Given the description of an element on the screen output the (x, y) to click on. 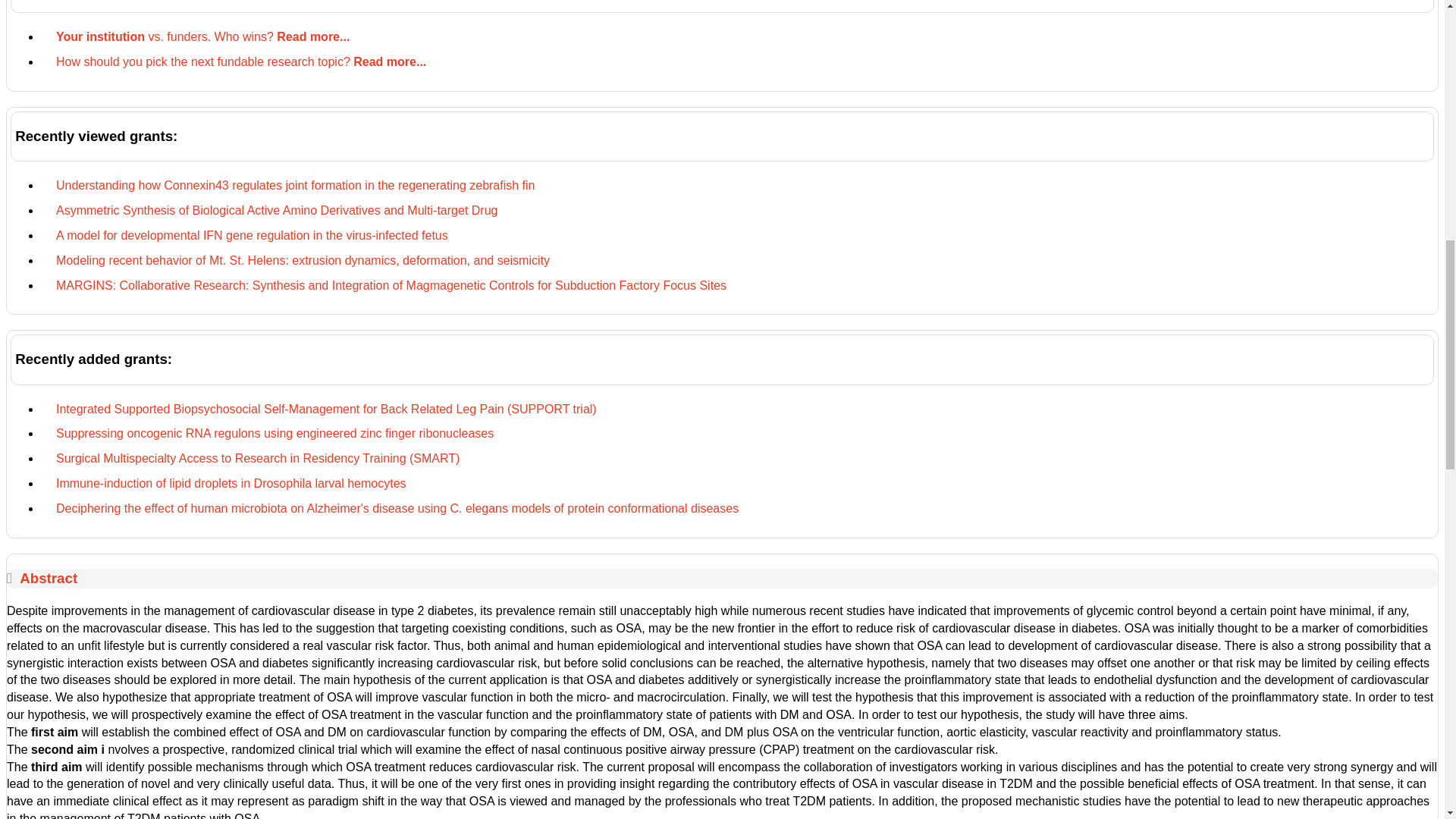
Abstract (48, 578)
